Given the description of an element on the screen output the (x, y) to click on. 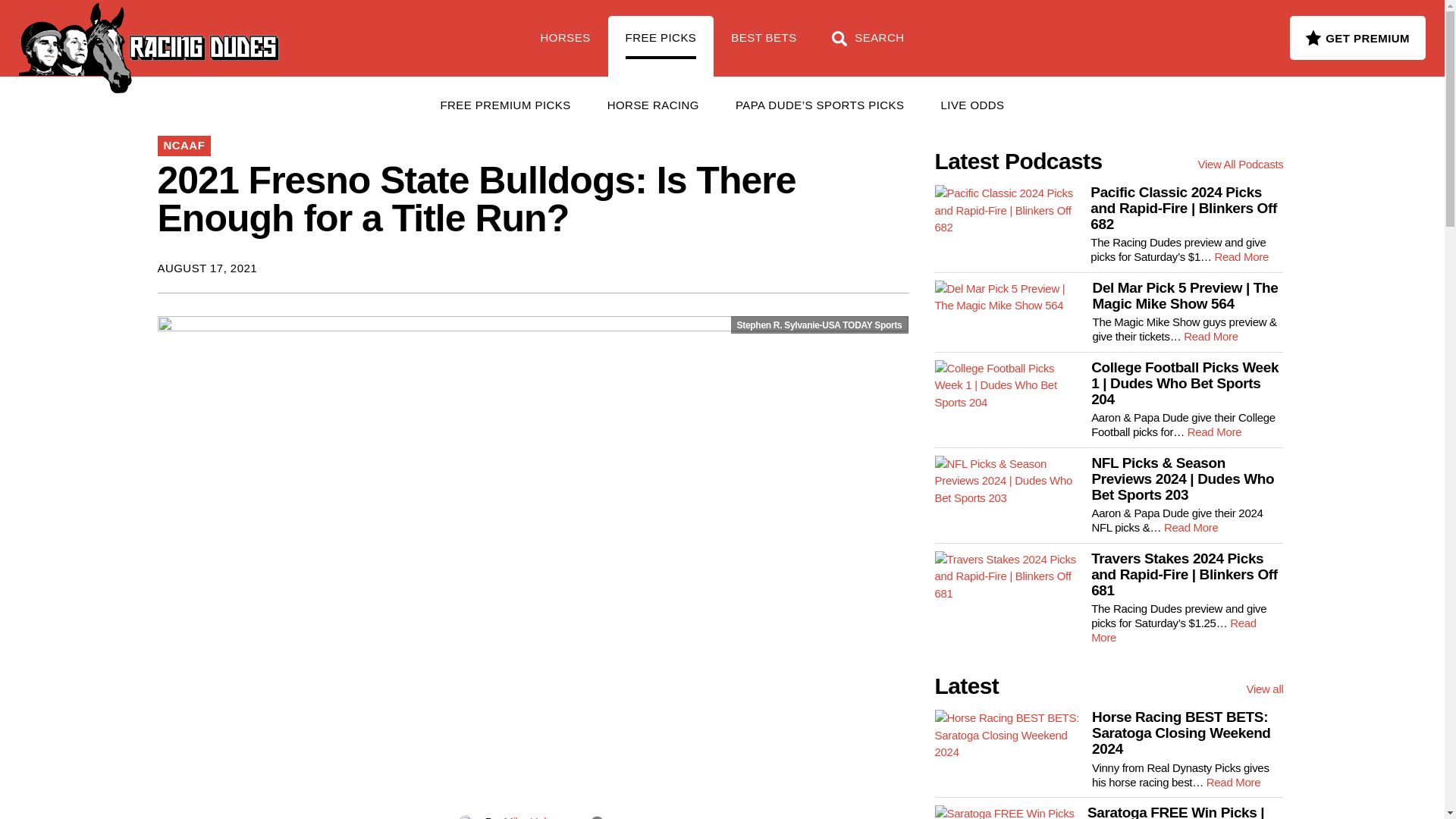
FREE PICKS (661, 45)
FREE PICKS (245, 29)
 SEARCH (867, 45)
GET PREMIUM (1357, 37)
PODCASTS (354, 29)
BEST BETS (763, 45)
HORSES (565, 45)
Posts by Mike Halterman (541, 816)
